Given the description of an element on the screen output the (x, y) to click on. 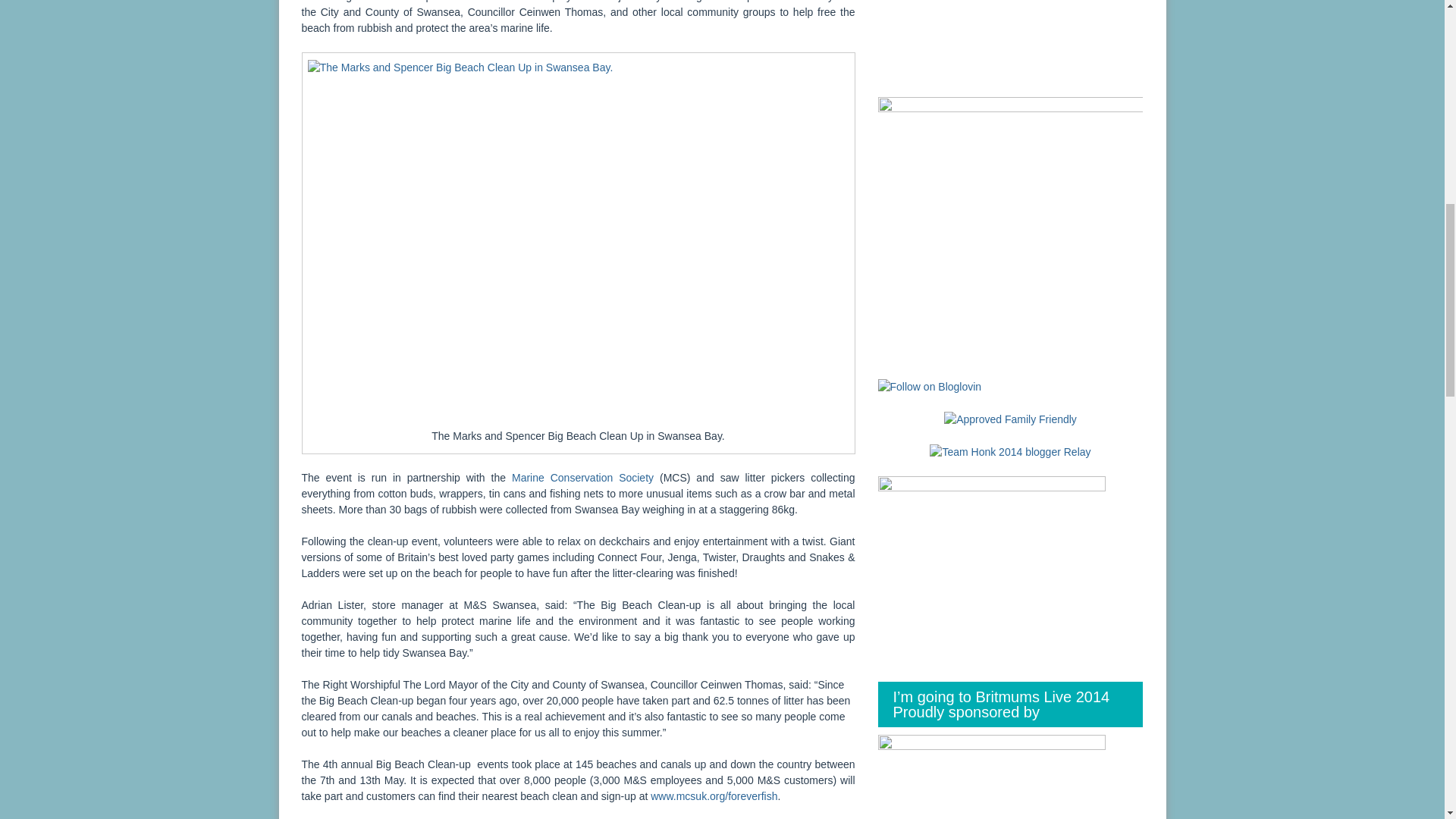
Follow Mum of 3 Boys on Bloglovin (929, 386)
AFF Assessor Badge (1010, 418)
Marine Conservation Society (582, 477)
Approved Family Friendly Trustmark (1010, 419)
Team Honk 2014 blogger Relay (1010, 451)
